Given the description of an element on the screen output the (x, y) to click on. 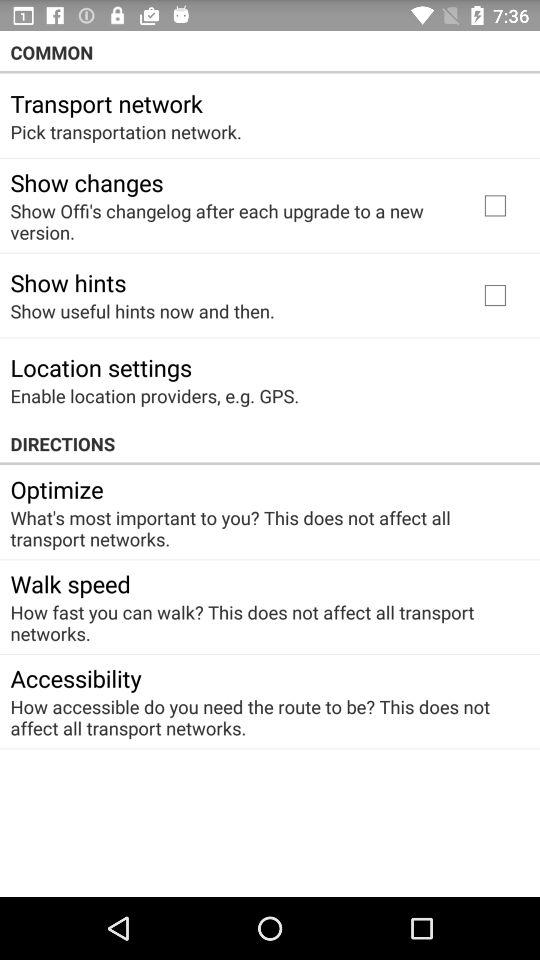
jump to pick transportation network. icon (125, 131)
